Given the description of an element on the screen output the (x, y) to click on. 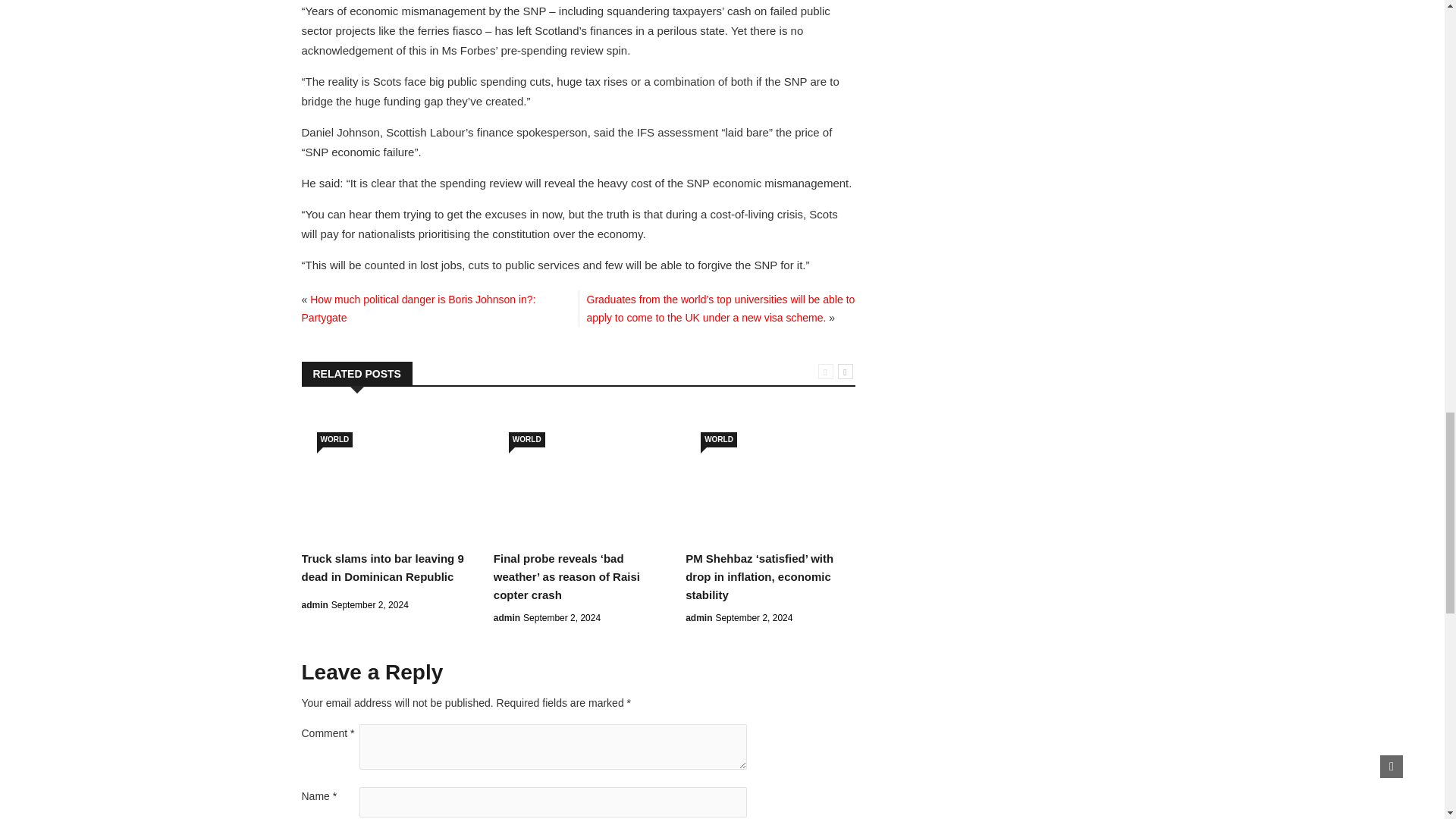
WORLD (335, 439)
admin (506, 617)
WORLD (526, 439)
admin (698, 617)
WORLD (718, 439)
admin (315, 604)
Truck slams into bar leaving 9 dead in Dominican Republic (382, 567)
How much political danger is Boris Johnson in?: Partygate (418, 308)
